Given the description of an element on the screen output the (x, y) to click on. 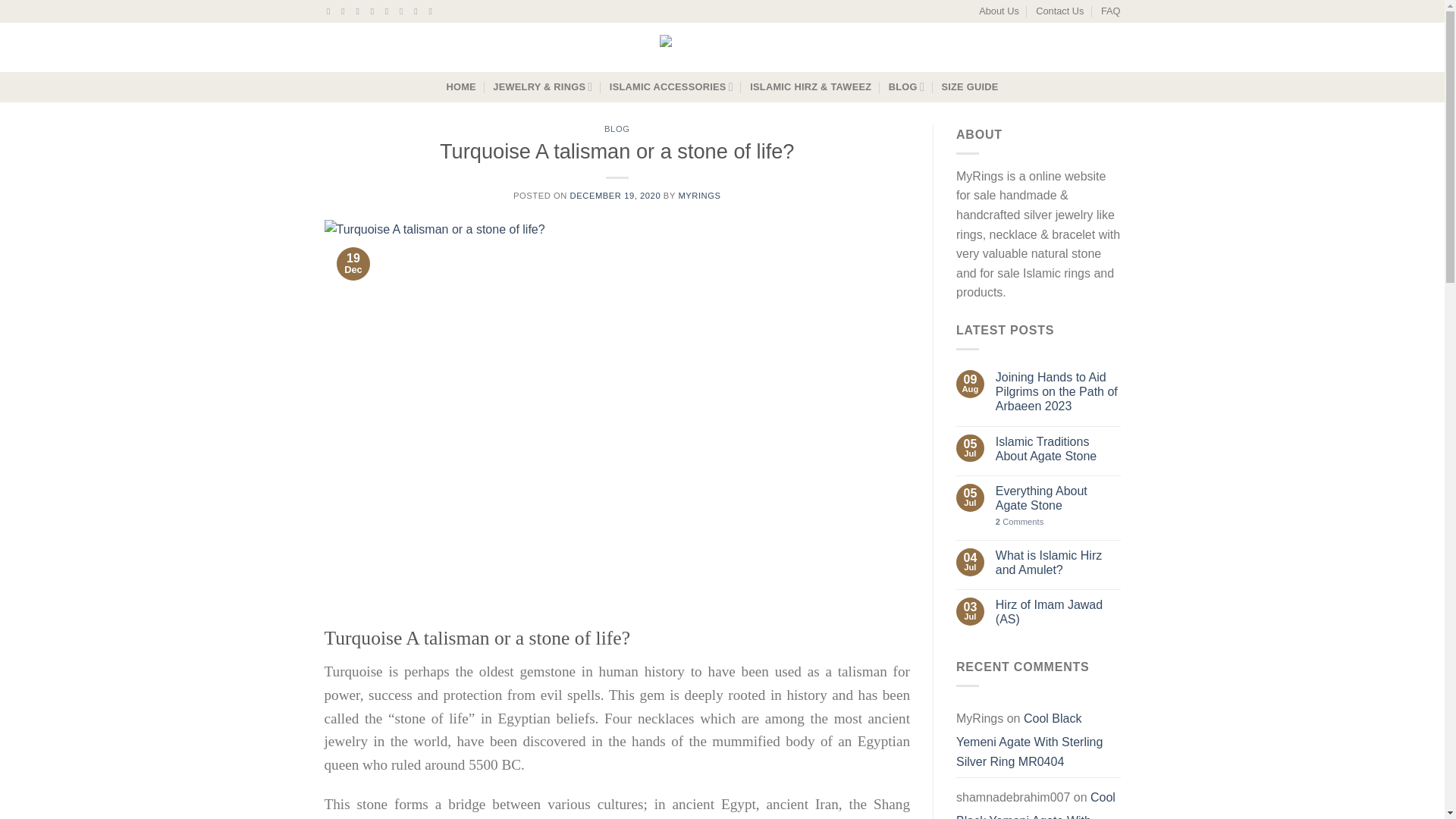
MENU (354, 47)
Cart (1074, 47)
Contact Us (1059, 11)
Search (537, 47)
HOME (460, 86)
Joining Hands to Aid Pilgrims on the Path of Arbaeen 2023 (1058, 392)
About Us (998, 11)
Login (961, 47)
